Given the description of an element on the screen output the (x, y) to click on. 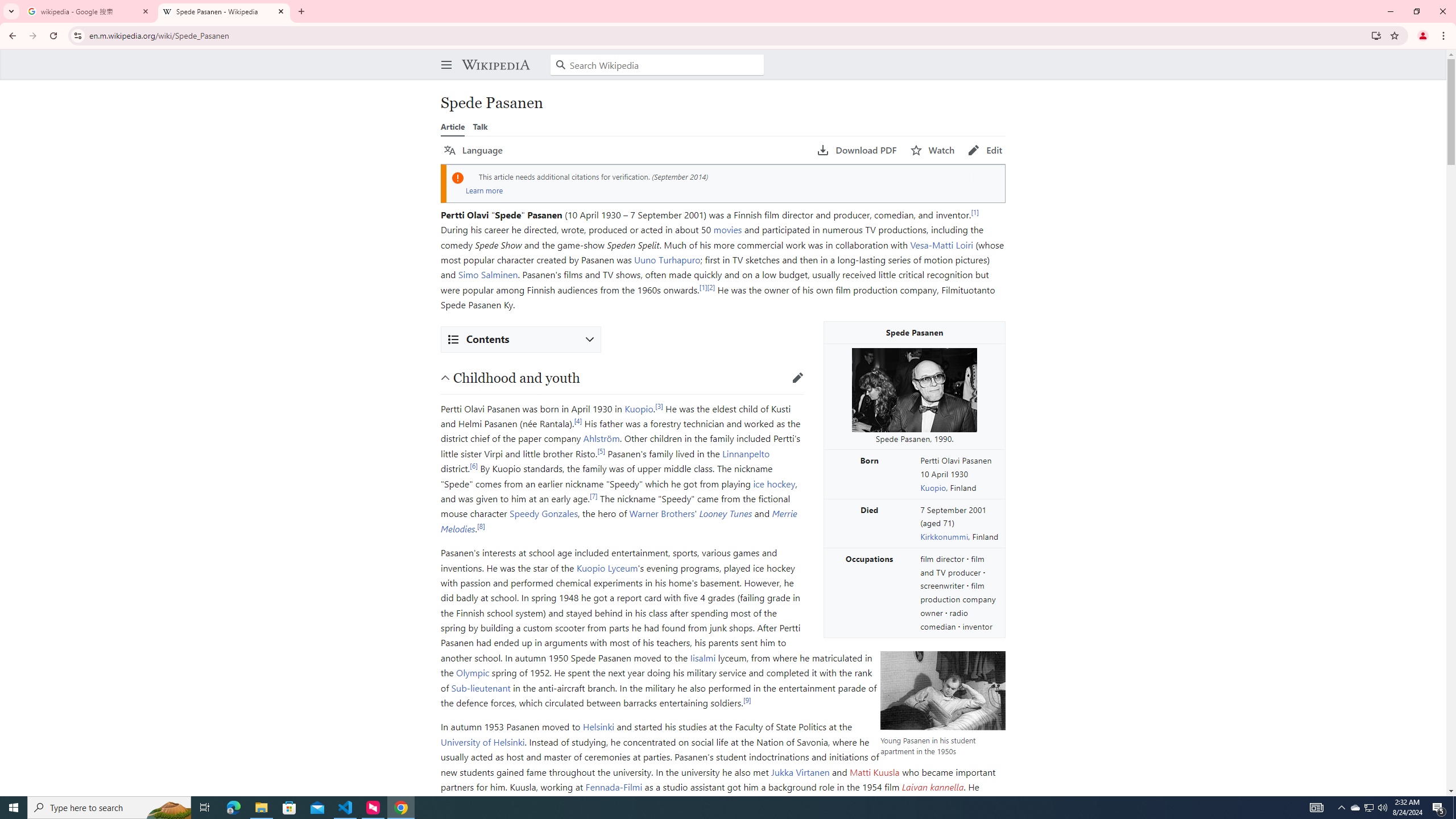
ice hockey (773, 483)
Download PDF (857, 149)
Edit (984, 149)
To get missing image descriptions, open the context menu. (913, 389)
Article (452, 126)
[2] (710, 286)
Kirkkonummi (944, 536)
edit (797, 377)
Spede Pasanen - Wikipedia (224, 11)
Talk (480, 126)
Warner Brothers (661, 513)
Simo Salminen (487, 274)
